Given the description of an element on the screen output the (x, y) to click on. 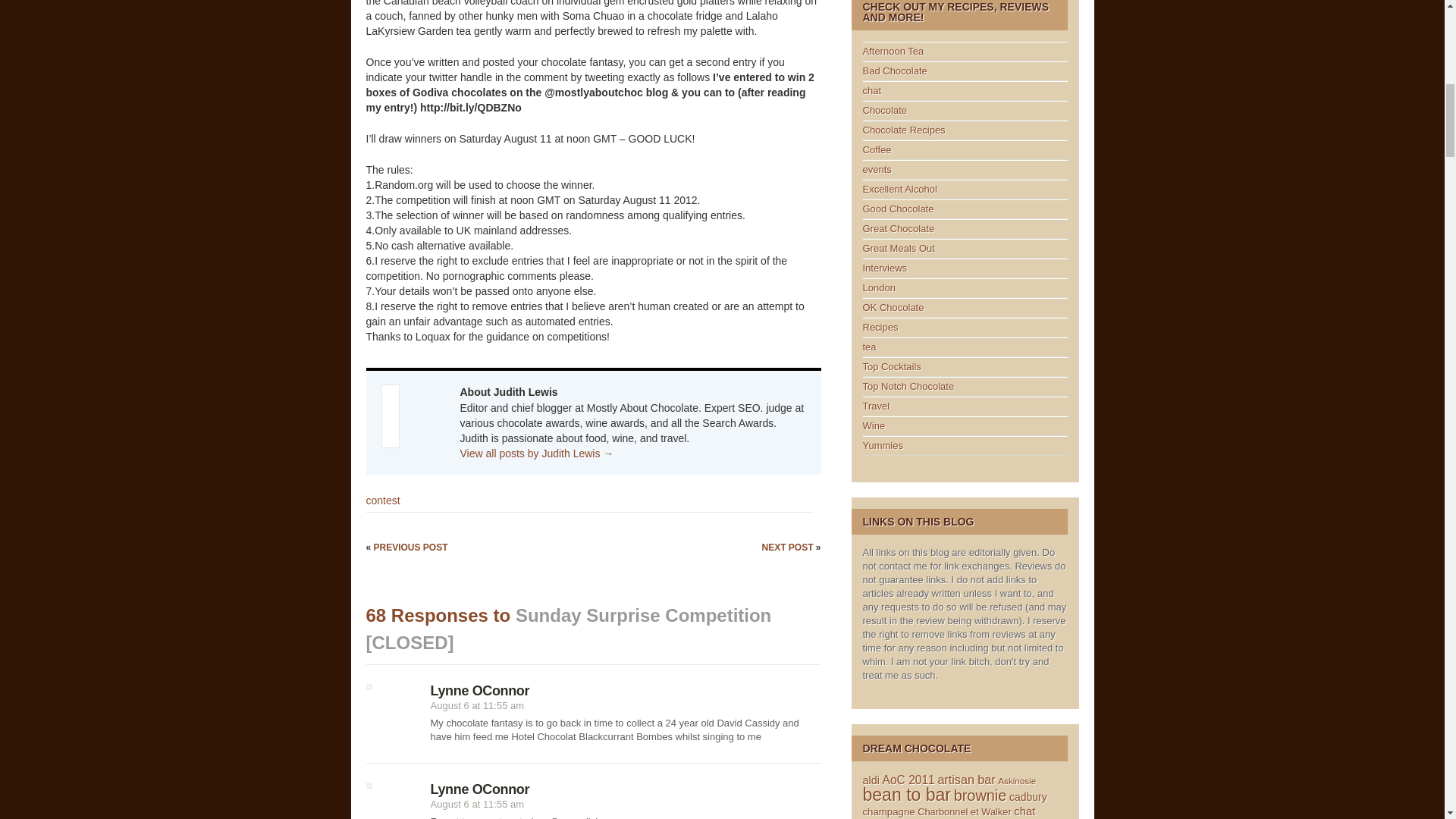
August 6 at 11:55 am (477, 803)
contest (381, 500)
PREVIOUS POST (411, 547)
August 6 at 11:55 am (477, 705)
NEXT POST (788, 547)
